Given the description of an element on the screen output the (x, y) to click on. 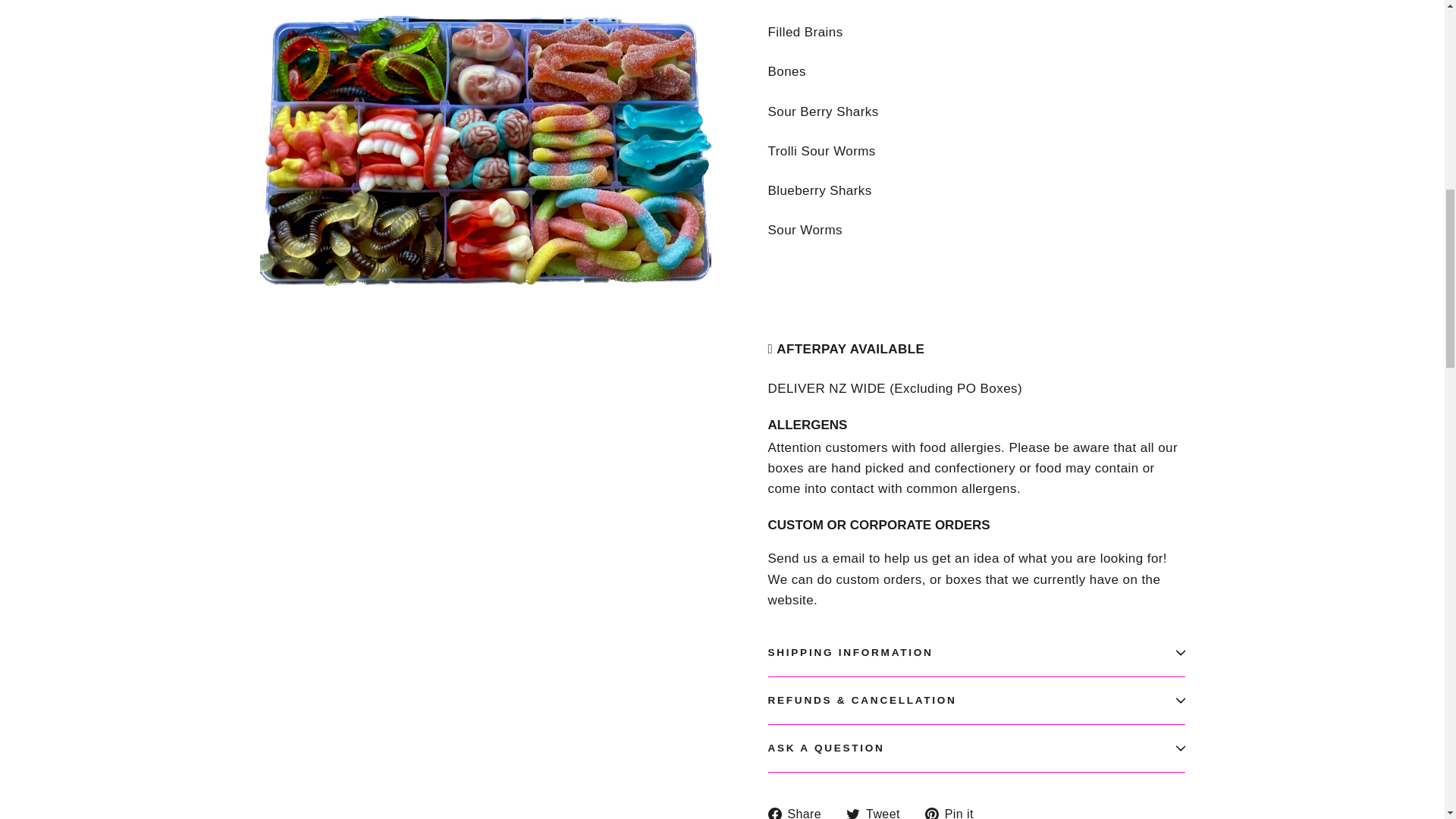
ASK A QUESTION (976, 748)
SHIPPING INFORMATION (976, 652)
Tweet on Twitter (878, 811)
Share on Facebook (799, 811)
Pin on Pinterest (954, 811)
